Given the description of an element on the screen output the (x, y) to click on. 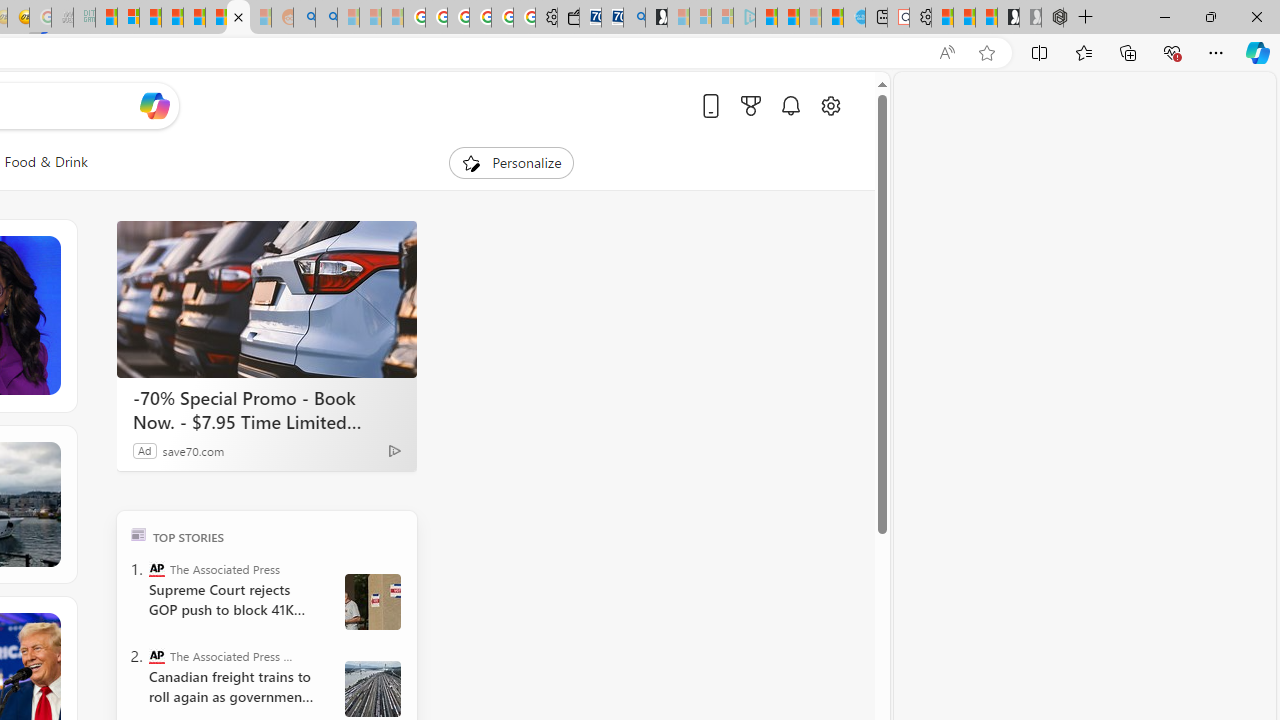
 Canada Railroads Unions (372, 688)
Utah sues federal government - Search (326, 17)
